Given the description of an element on the screen output the (x, y) to click on. 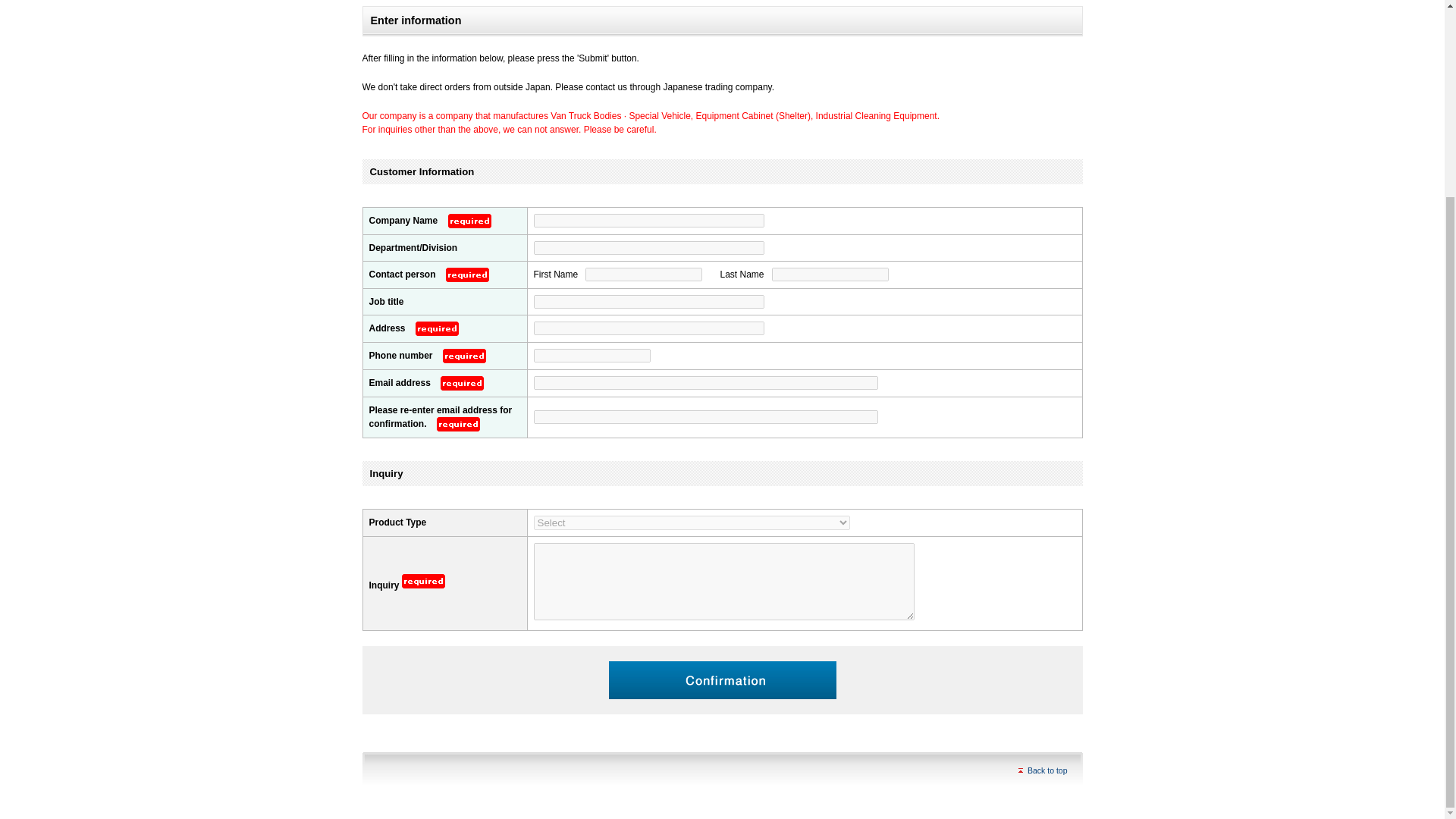
Back to top (1042, 769)
Confirmation (721, 679)
Confirmation (721, 679)
